Given the description of an element on the screen output the (x, y) to click on. 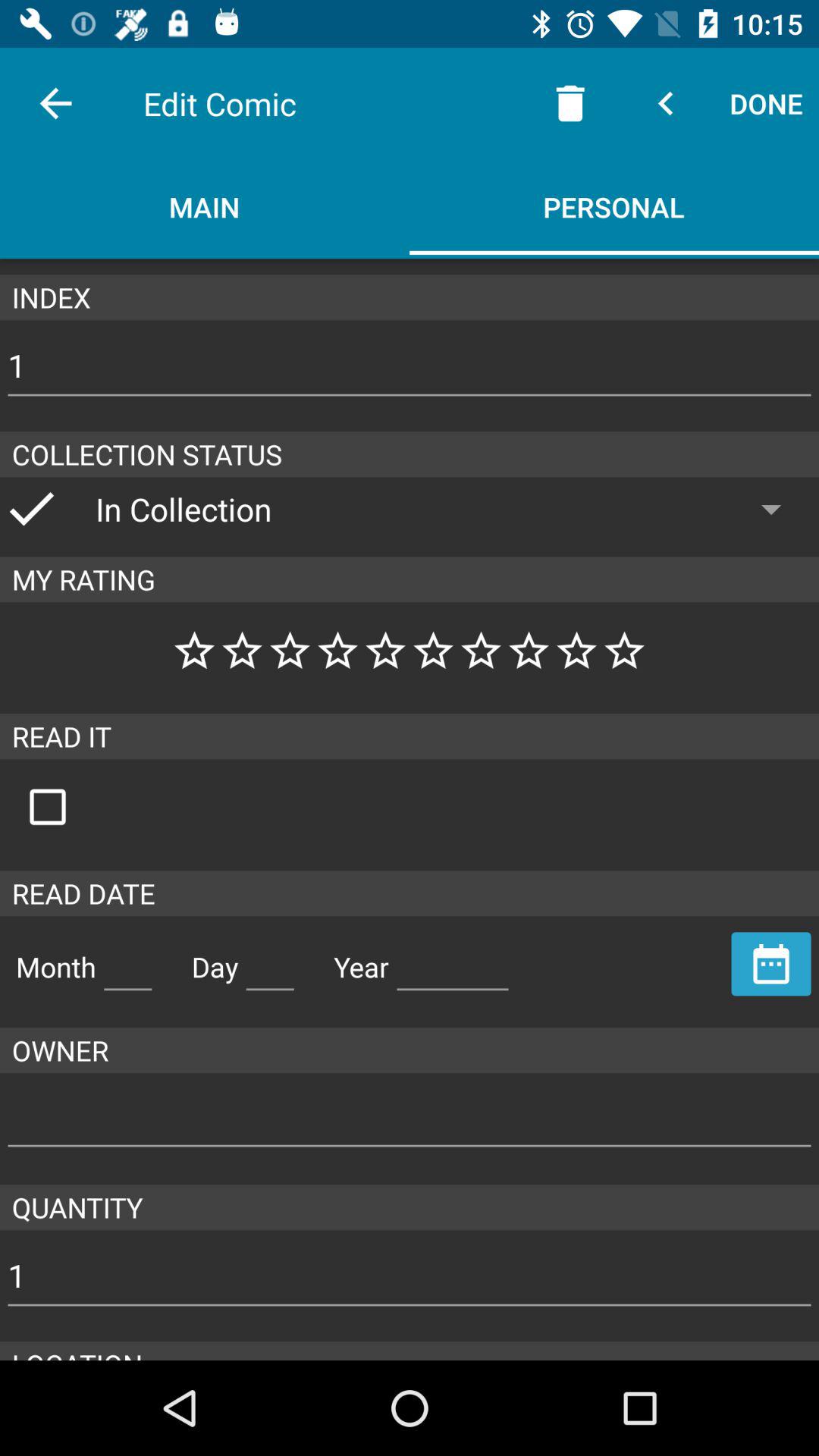
show calendar (771, 963)
